Given the description of an element on the screen output the (x, y) to click on. 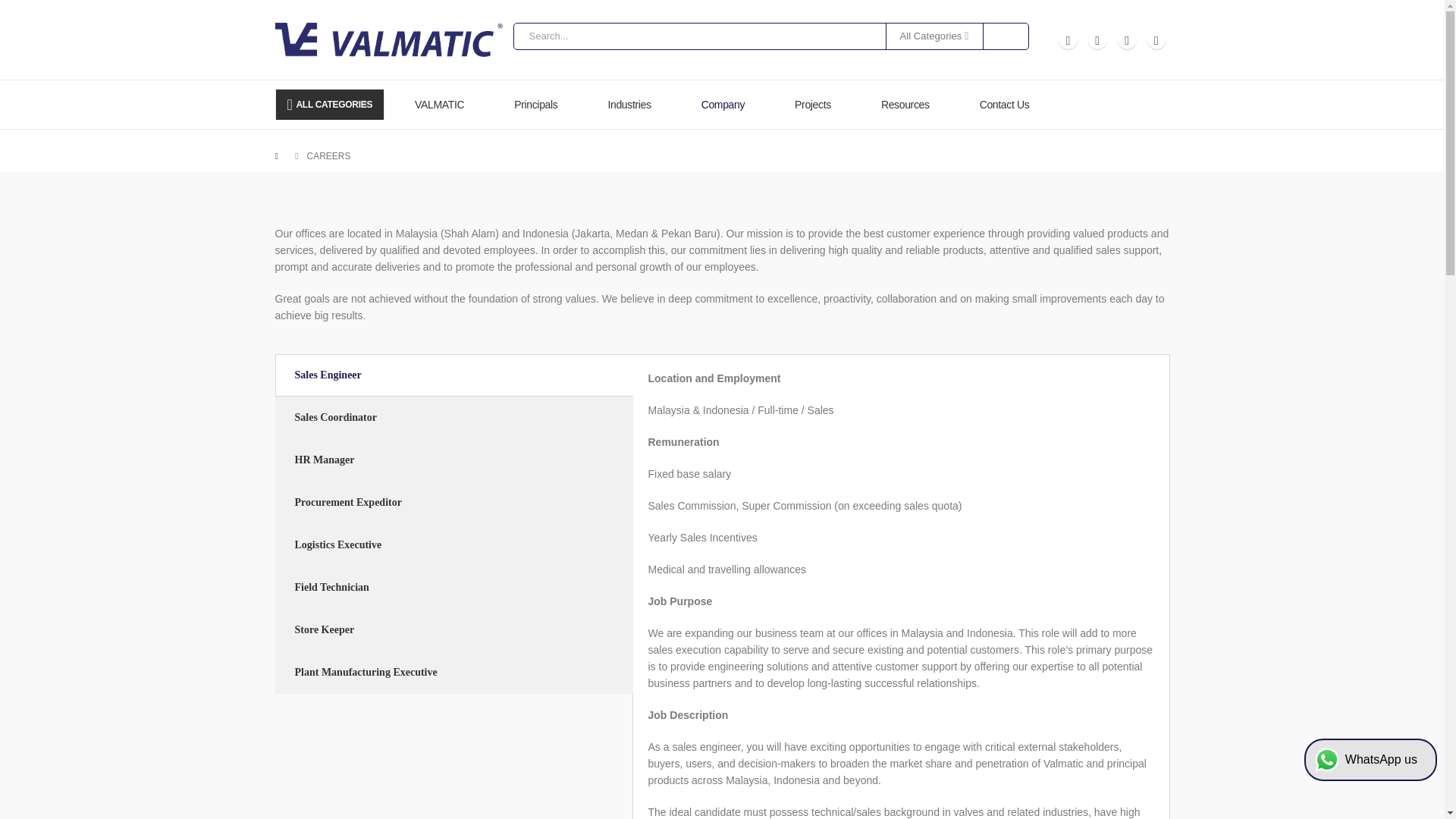
Email (1156, 39)
Youtube (1096, 39)
Search (998, 35)
WhatsApp (1067, 39)
LinkedIn (1127, 39)
WhatsApp (1067, 39)
Email (1156, 39)
Valmatic -  (388, 39)
